Given the description of an element on the screen output the (x, y) to click on. 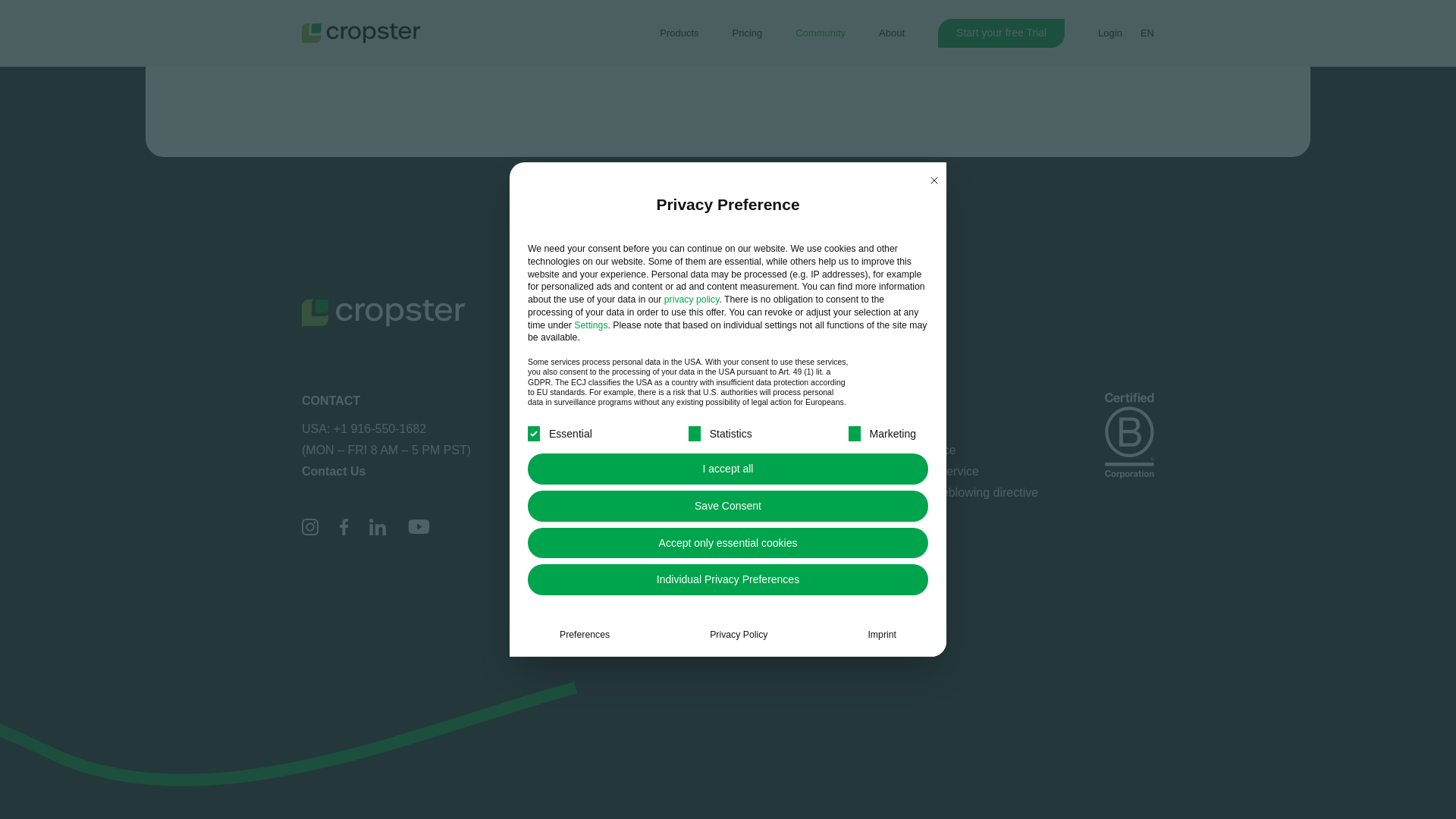
Submit (448, 100)
